Given the description of an element on the screen output the (x, y) to click on. 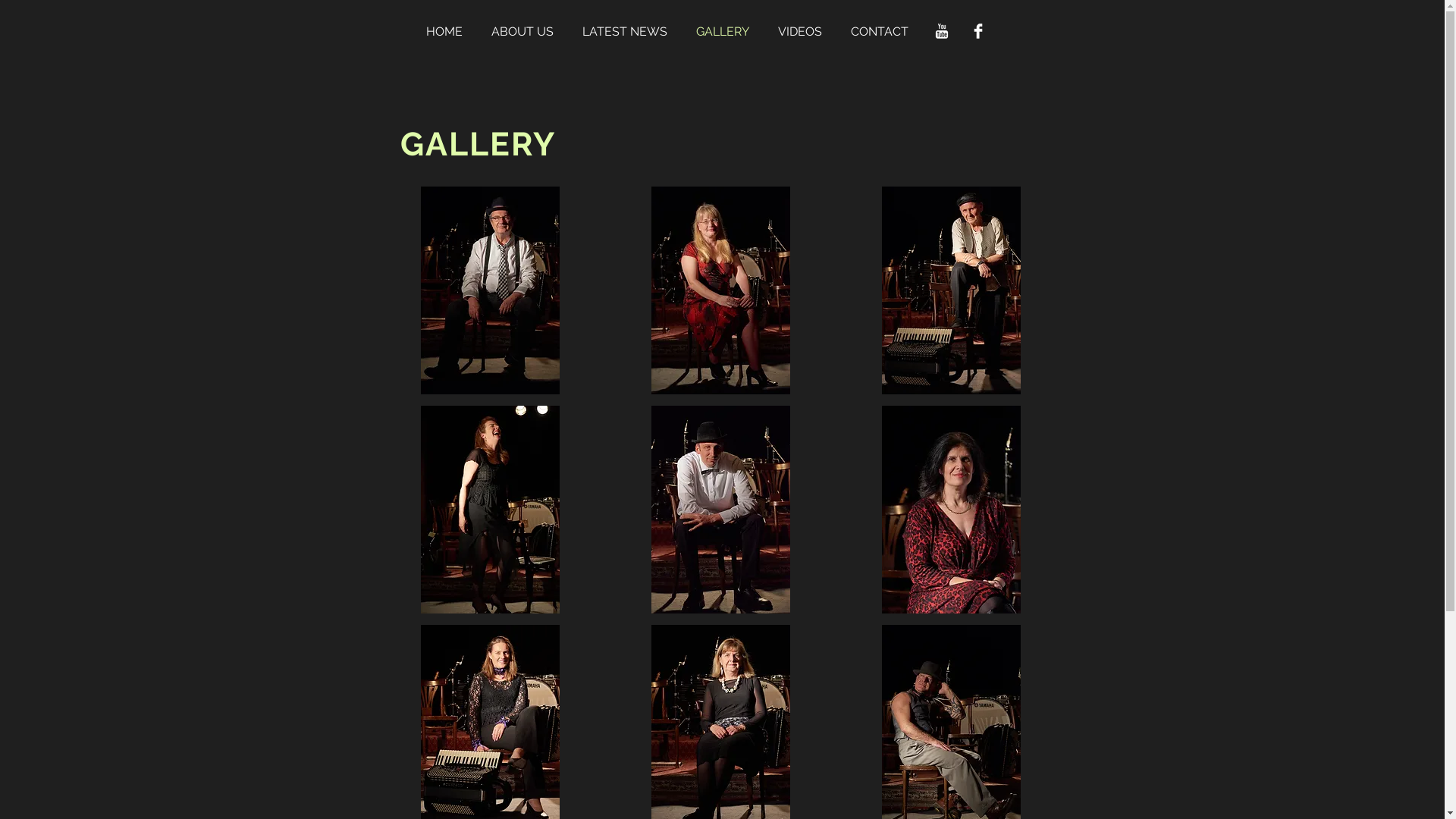
VIDEOS Element type: text (806, 30)
GALLERY Element type: text (729, 30)
LATEST NEWS Element type: text (631, 30)
ABOUT US Element type: text (528, 30)
CONTACT Element type: text (886, 30)
HOME Element type: text (450, 30)
